Given the description of an element on the screen output the (x, y) to click on. 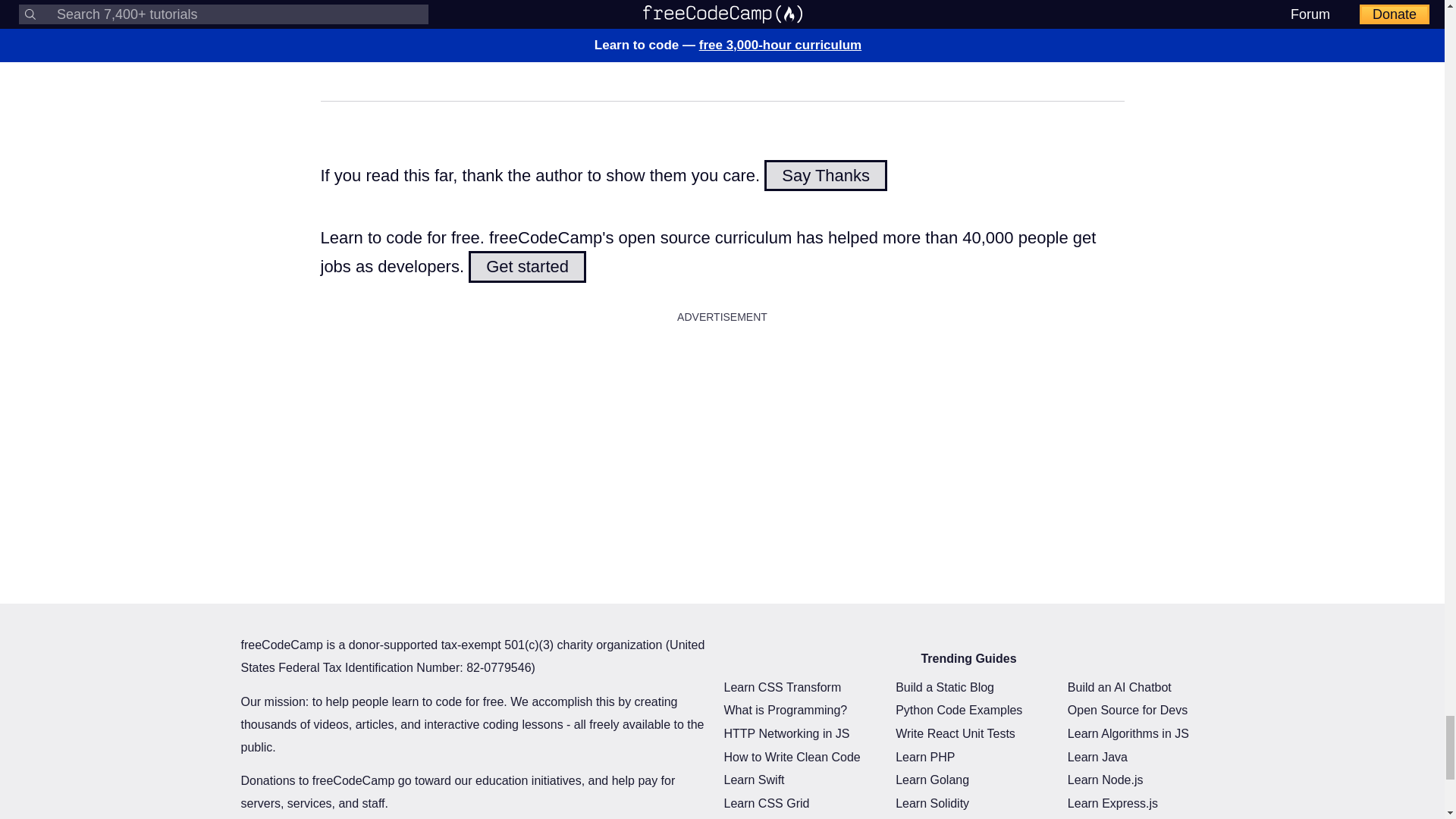
Open Source for Devs (1127, 709)
Learn Golang (932, 779)
freeCodeCamp (430, 9)
Build an AI Chatbot (1119, 687)
Say Thanks (825, 174)
Write React Unit Tests (954, 733)
Learn CSS Grid (766, 803)
Learn Solidity (932, 803)
Learn CSS Transform (782, 687)
Learn Algorithms in JS (1128, 733)
